Given the description of an element on the screen output the (x, y) to click on. 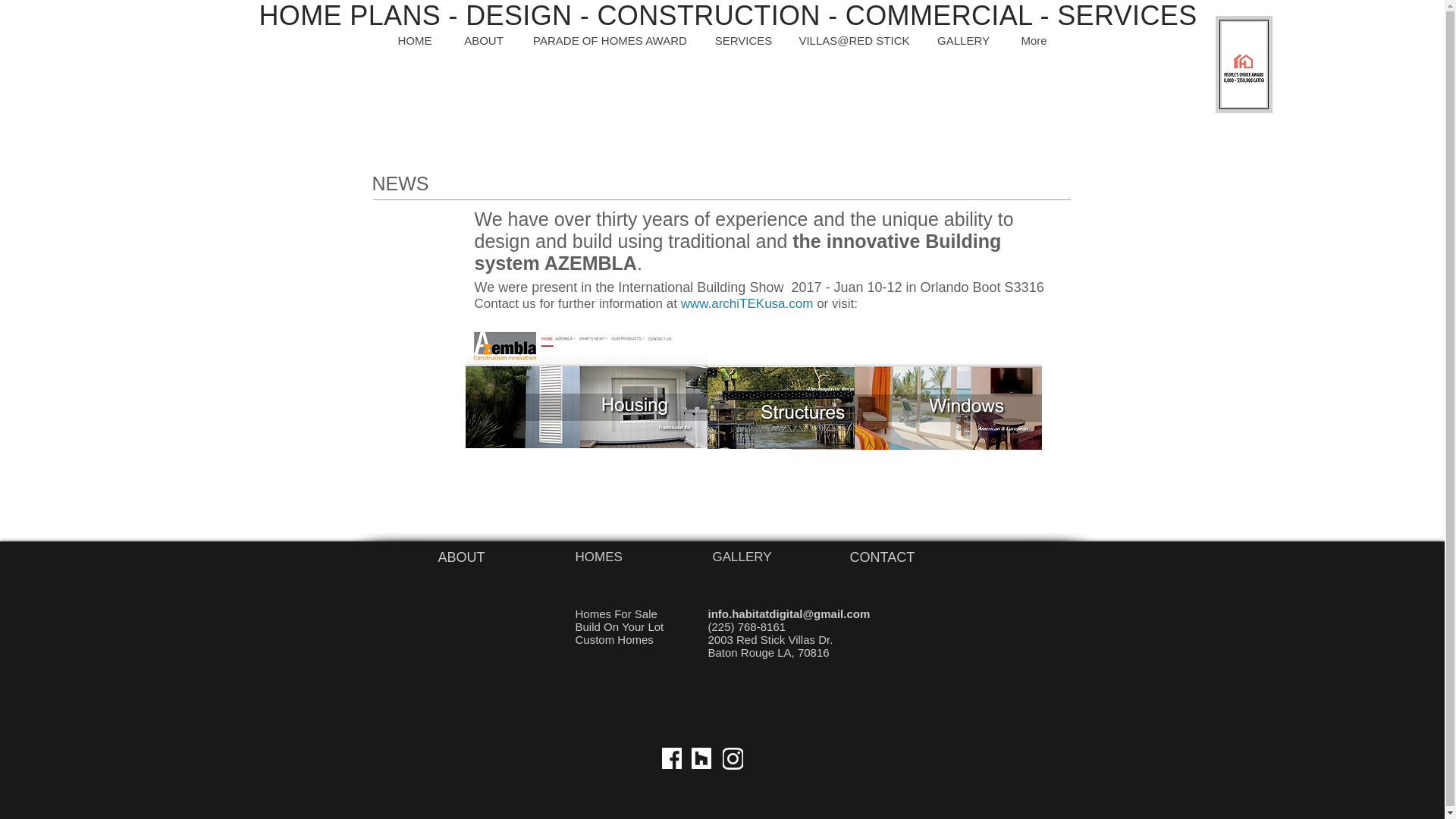
HOMES (598, 556)
Build On Your Lot (619, 626)
Homes For Sale (615, 613)
Custom Homes (613, 639)
ABOUT (461, 557)
HOME (414, 40)
GALLERY (962, 40)
GALLERY (742, 556)
PARADE OF HOMES AWARD (609, 40)
ABOUT (482, 40)
